Given the description of an element on the screen output the (x, y) to click on. 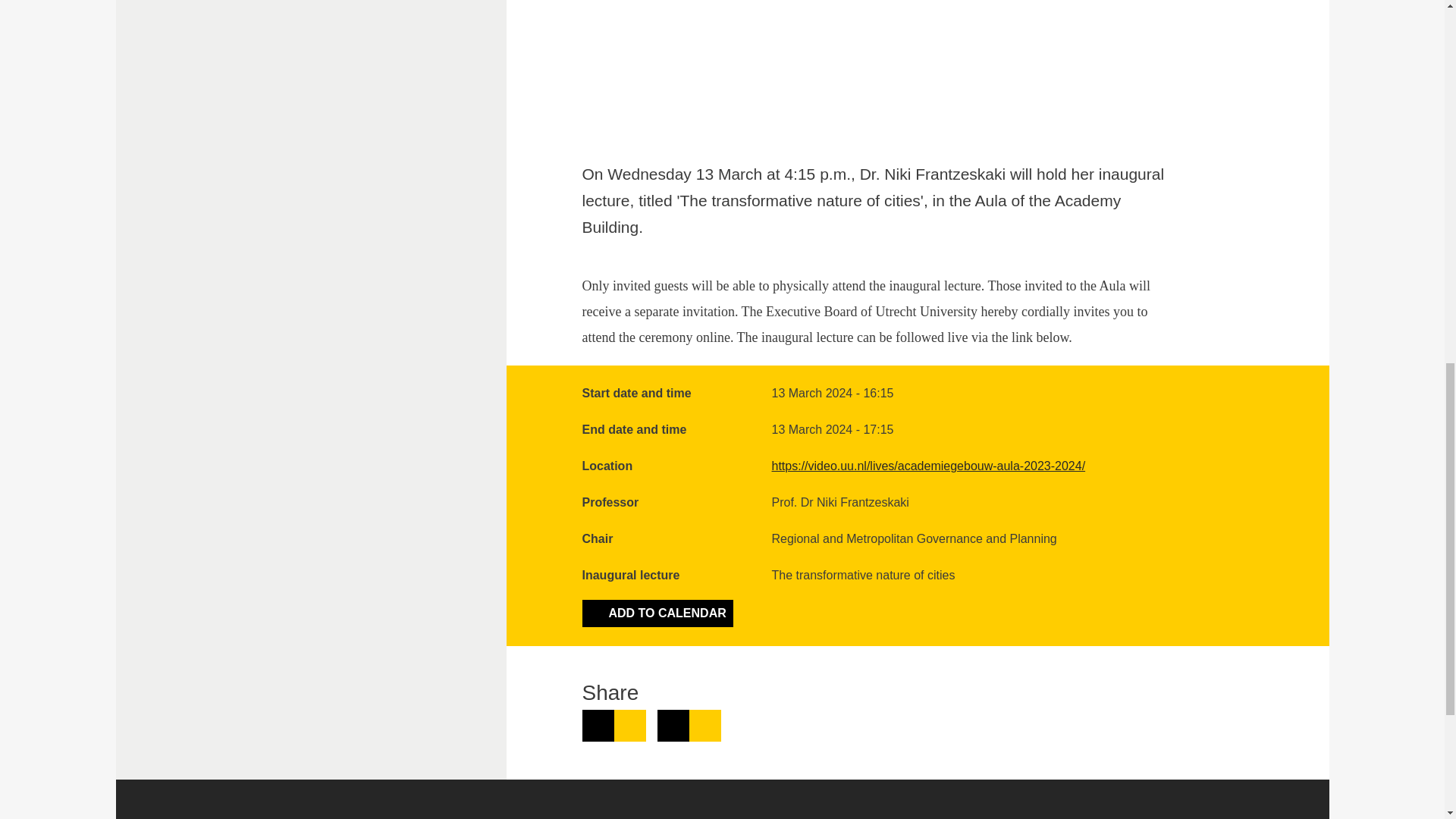
Share on LinkedIn (614, 726)
Share on Facebook (688, 726)
Share on Facebook (688, 726)
Share on LinkedIn (614, 726)
ADD TO CALENDAR (657, 613)
